Given the description of an element on the screen output the (x, y) to click on. 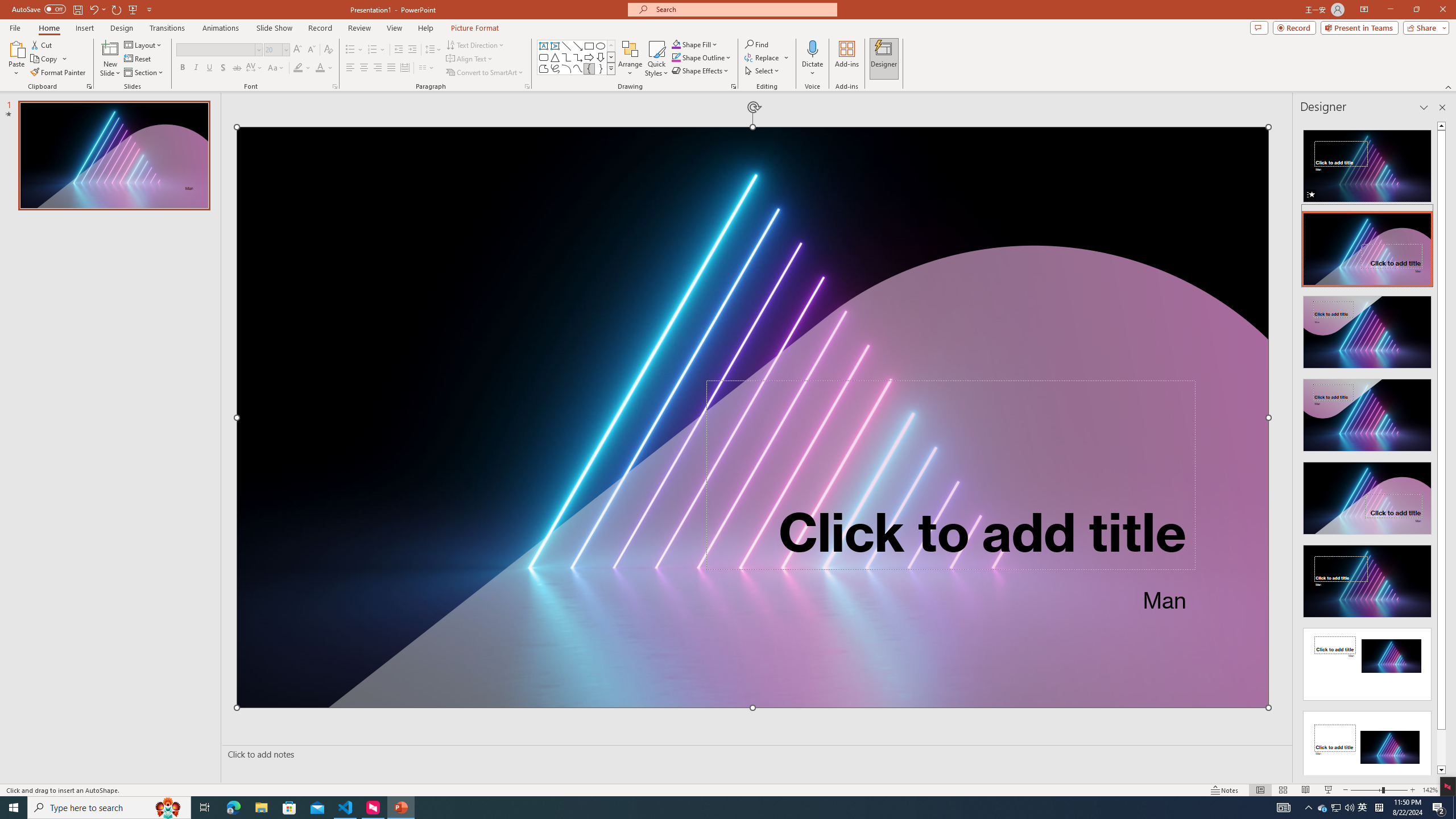
Shape Outline (701, 56)
Shape Effects (700, 69)
Zoom 142% (1430, 790)
Shape Outline Blue, Accent 1 (675, 56)
